Given the description of an element on the screen output the (x, y) to click on. 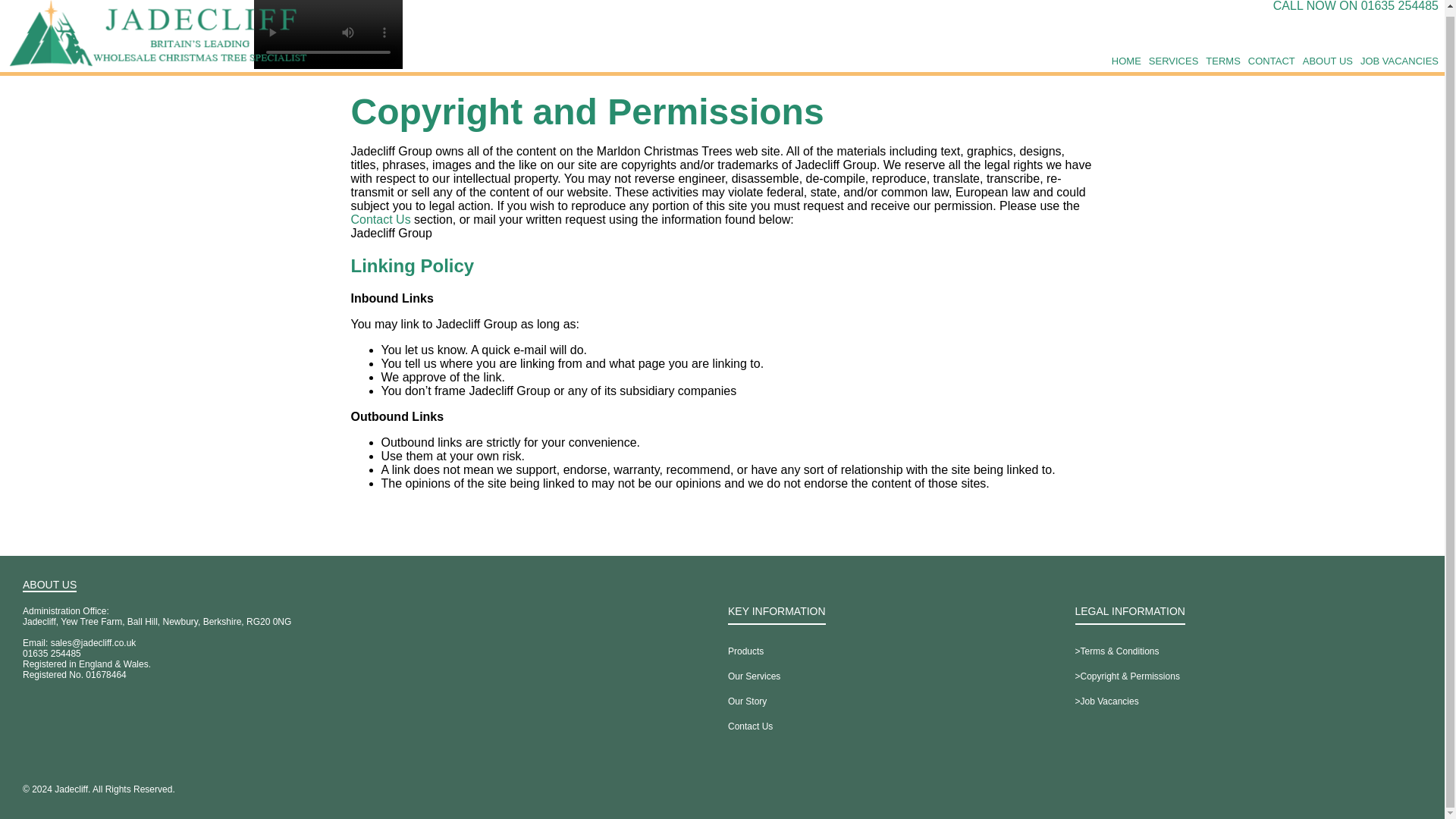
01635 254485 (52, 654)
Terms (1222, 61)
Contact Us (380, 219)
About Us (1327, 61)
Products (745, 651)
Home (1126, 61)
CONTACT (1271, 61)
Contact Us (750, 726)
Contact Us (380, 219)
ABOUT US (1327, 61)
Our Story (747, 701)
Our Services (754, 676)
TERMS (1222, 61)
Services (1173, 61)
Job Vacancies (1398, 61)
